Given the description of an element on the screen output the (x, y) to click on. 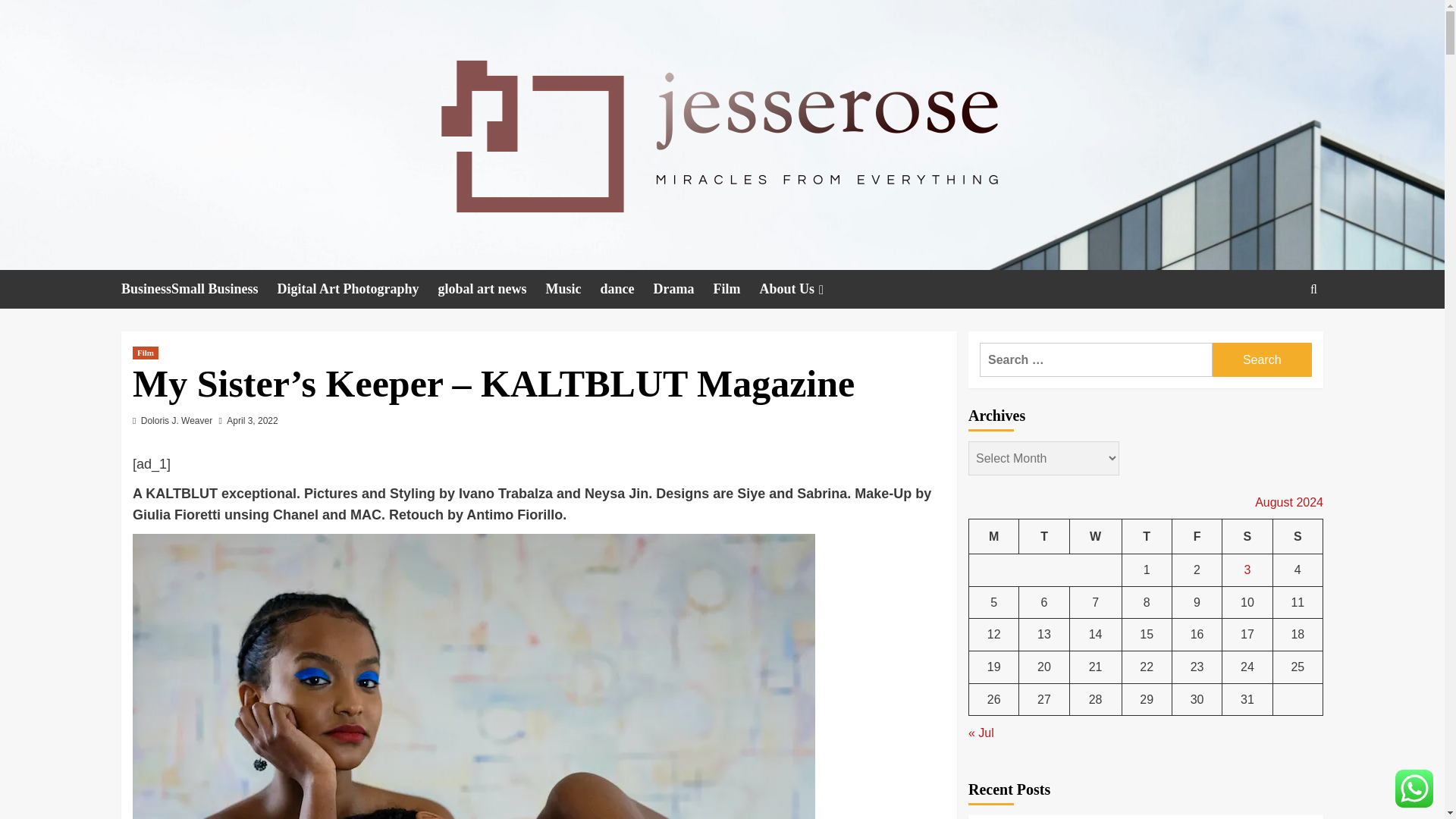
Tuesday (1043, 536)
Thursday (1146, 536)
Film (736, 289)
Saturday (1247, 536)
Doloris J. Weaver (176, 420)
Film (145, 352)
Search (1278, 335)
Sunday (1297, 536)
Digital Art Photography (358, 289)
Search (1261, 359)
Music (572, 289)
April 3, 2022 (252, 420)
Search (1261, 359)
Drama (683, 289)
Wednesday (1094, 536)
